Given the description of an element on the screen output the (x, y) to click on. 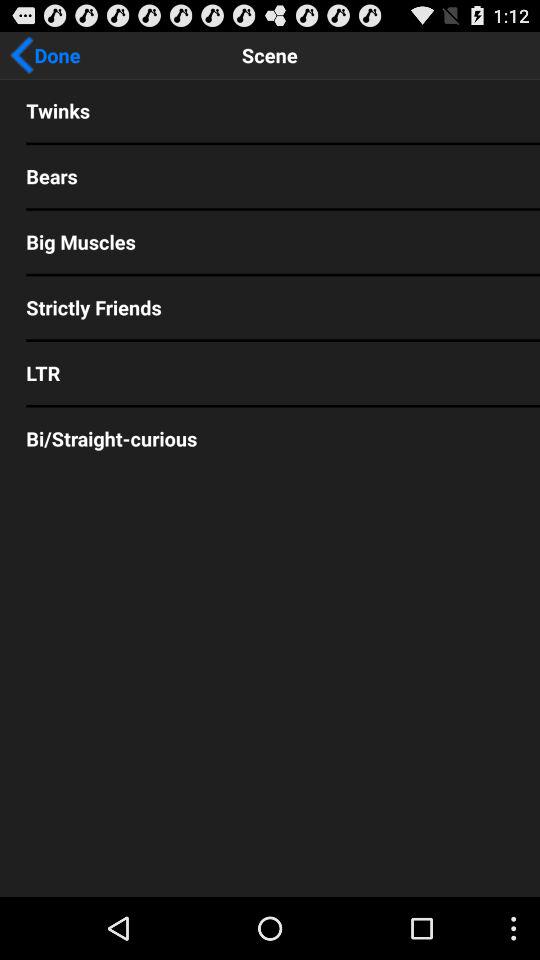
scroll to the done icon (45, 55)
